Given the description of an element on the screen output the (x, y) to click on. 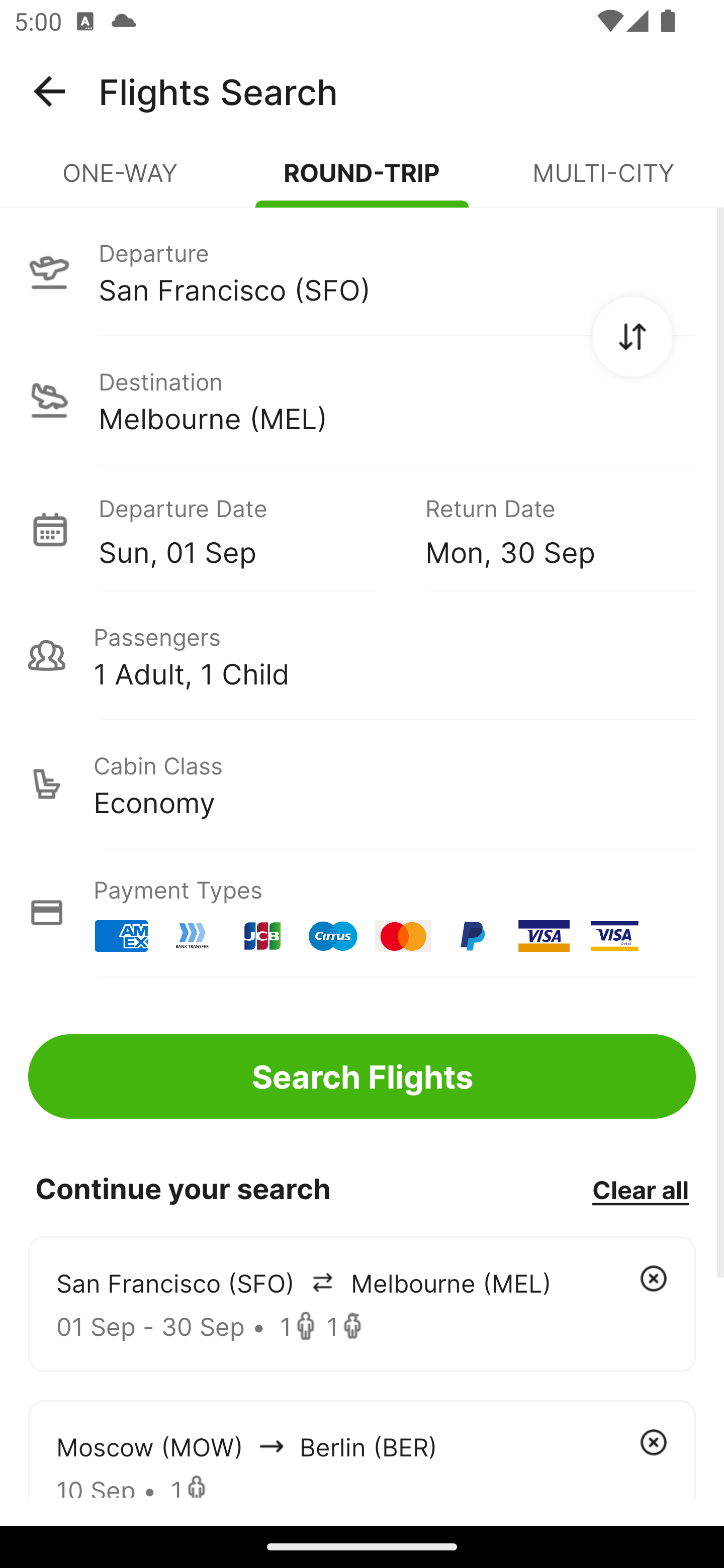
ONE-WAY (120, 180)
ROUND-TRIP (361, 180)
MULTI-CITY (603, 180)
Departure San Francisco (SFO) (362, 270)
Destination Melbourne (MEL) (362, 400)
Departure Date Sun, 01 Sep (247, 528)
Return Date Mon, 30 Sep (546, 528)
Passengers 1 Adult, 1 Child (362, 655)
Cabin Class Economy (362, 783)
Payment Types (362, 912)
Search Flights (361, 1075)
Clear all (640, 1189)
Moscow (MOW)  arrowIcon  Berlin (BER) 10 Sep •  1  (361, 1448)
